Given the description of an element on the screen output the (x, y) to click on. 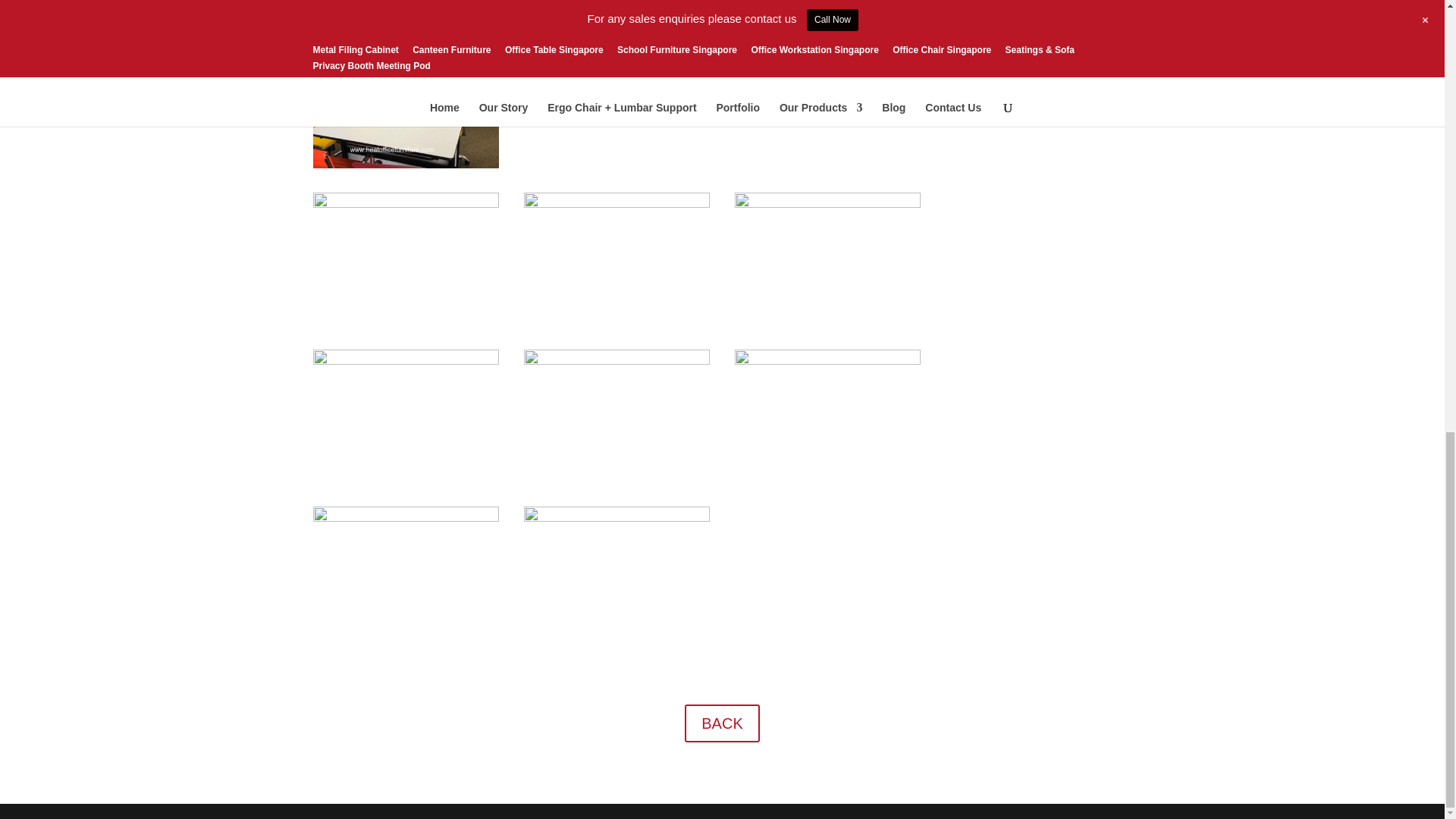
BACK (721, 723)
hosp-6 (617, 46)
hosp-5 (406, 360)
hosp-10 (617, 517)
hosp-7 (617, 360)
hosp-1 (406, 203)
hosp-8 (828, 360)
hosp-9 (406, 517)
hosp-4 (828, 203)
sch-4 (406, 164)
hosp-3 (617, 203)
hosp-2 (828, 46)
